Given the description of an element on the screen output the (x, y) to click on. 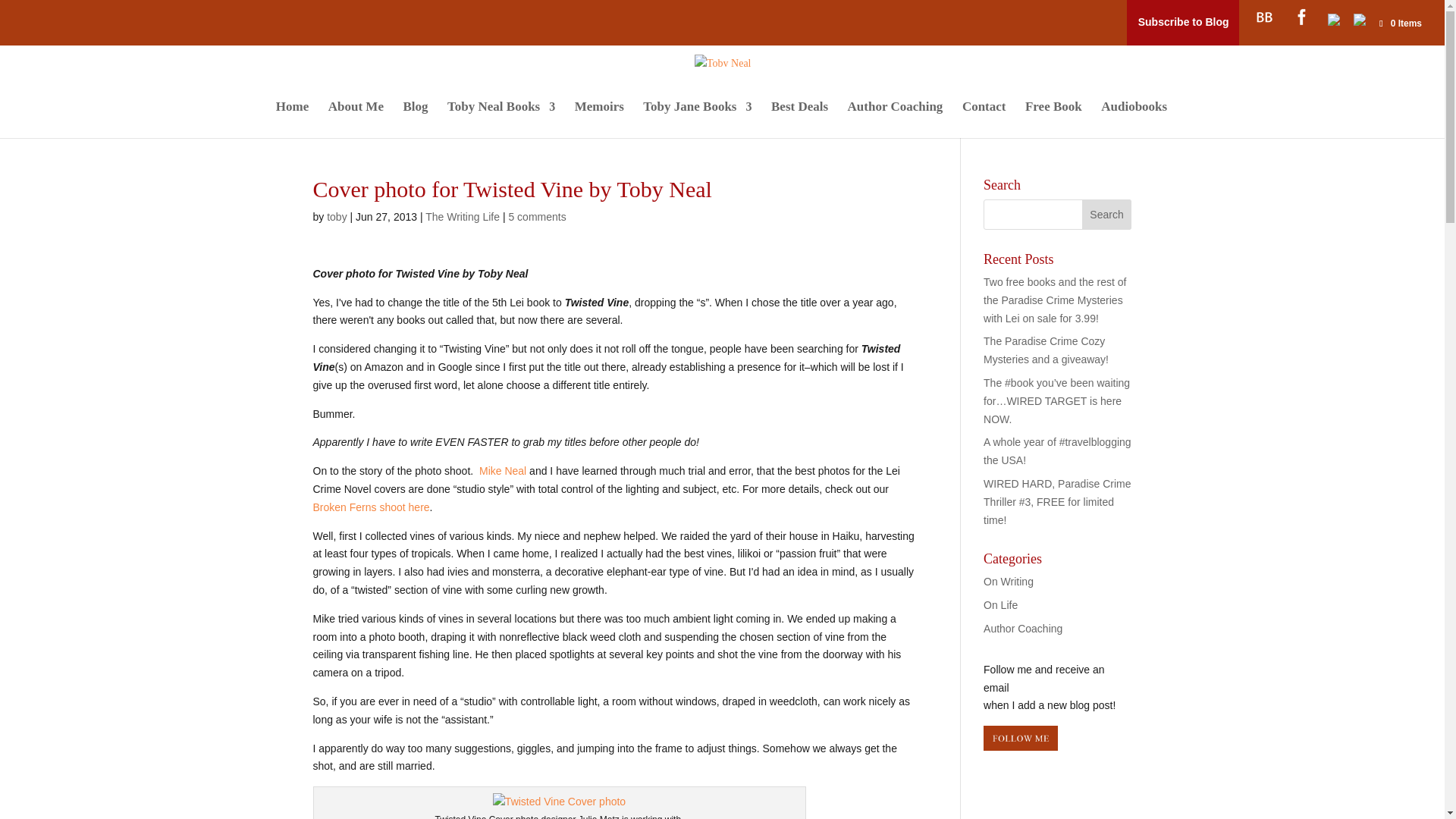
Subscribe to Blog (1183, 22)
Broken Ferns shoot here (371, 507)
Mike Neal (502, 470)
The Writing Life (462, 216)
0 Items (1399, 23)
Toby Jane Books (697, 119)
About Me (356, 119)
Nealstudios (502, 470)
Broken Ferns shoot (371, 507)
Search (1106, 214)
